Given the description of an element on the screen output the (x, y) to click on. 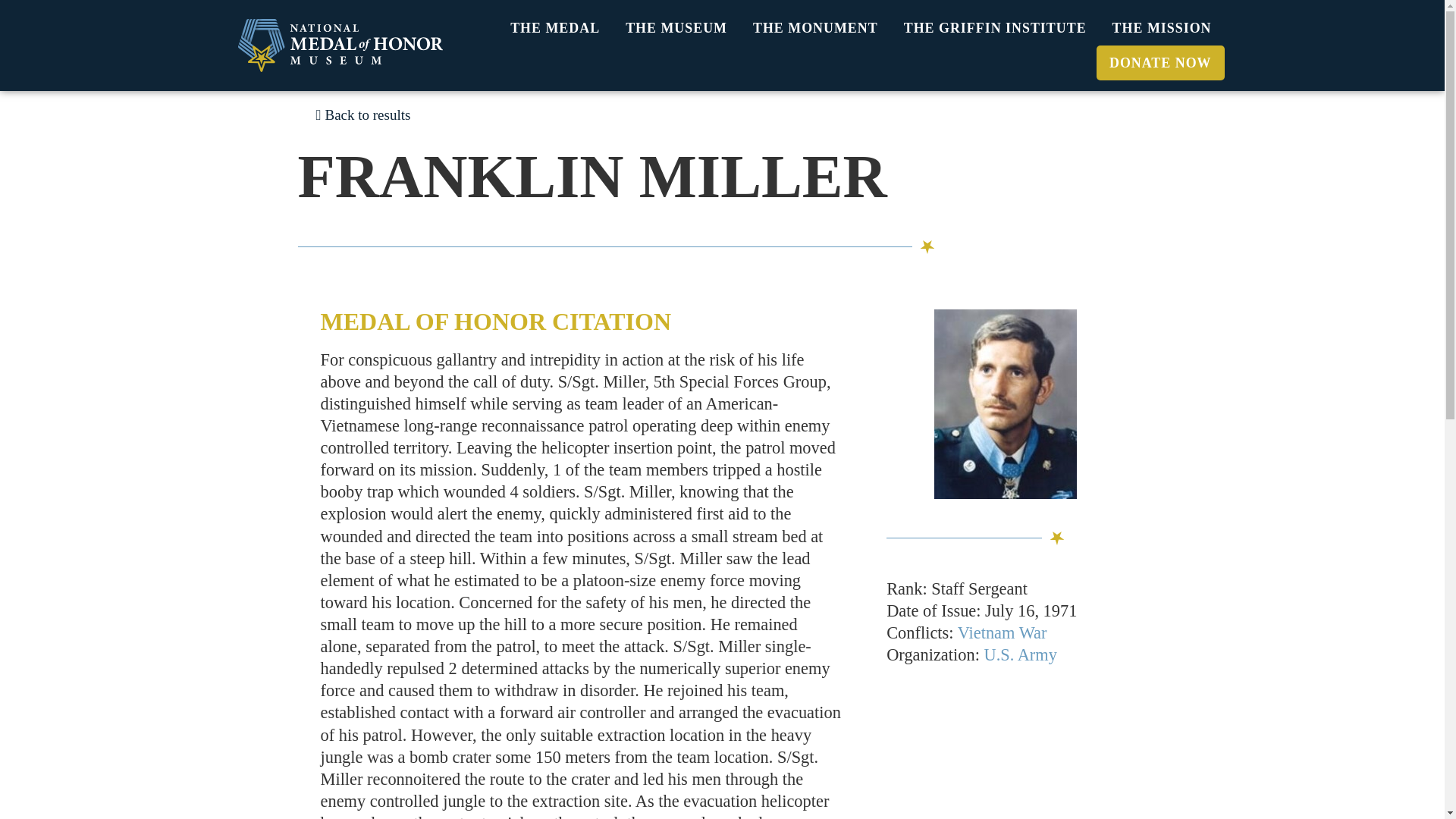
Vietnam War (1002, 632)
Back to results (362, 114)
THE GRIFFIN INSTITUTE (995, 27)
U.S. Army (1020, 654)
THE MEDAL (554, 27)
THE MONUMENT (815, 27)
DONATE NOW (1160, 62)
THE MUSEUM (675, 27)
THE MISSION (1161, 27)
